Given the description of an element on the screen output the (x, y) to click on. 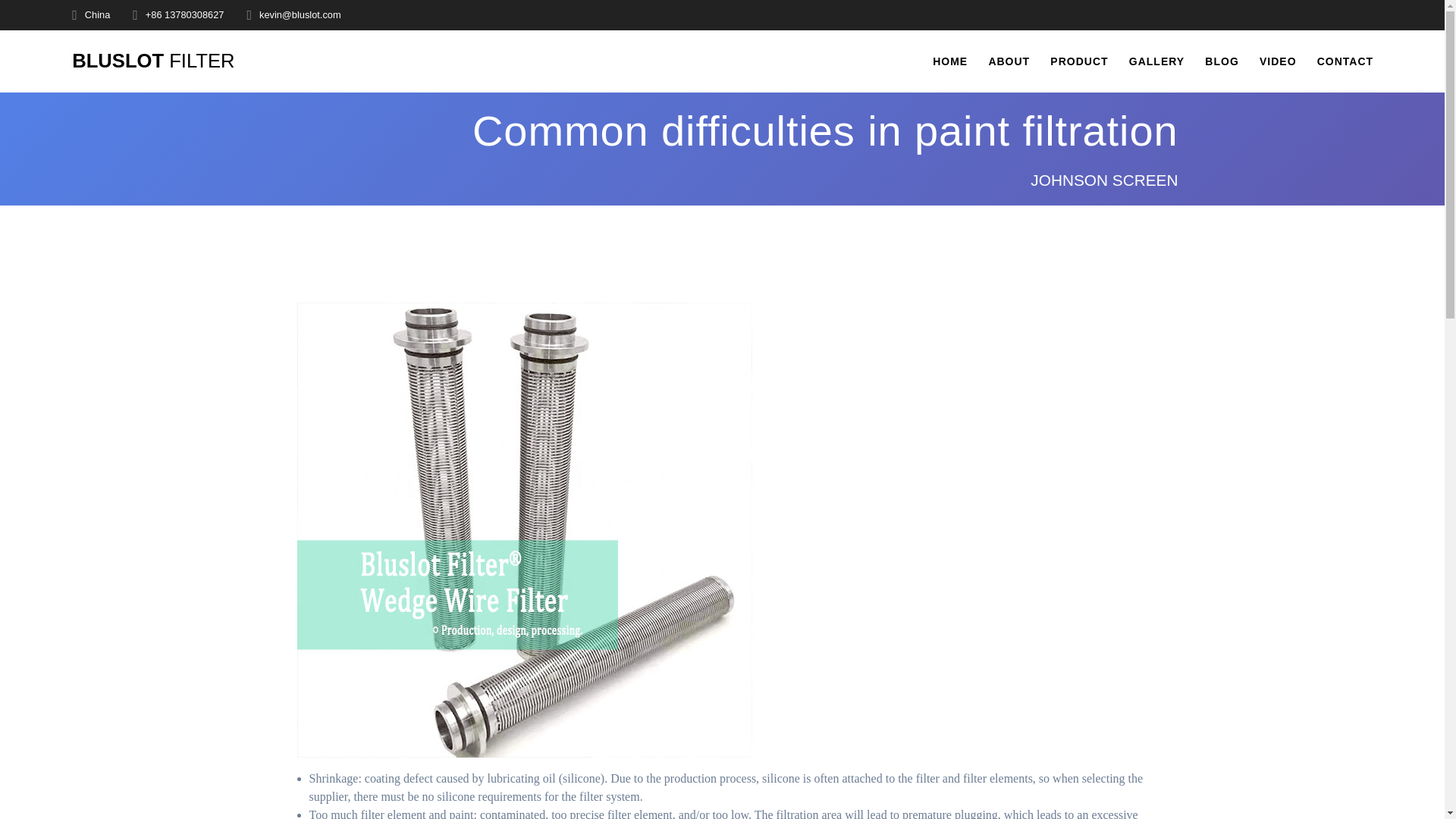
BLUSLOT FILTER (152, 61)
ABOUT (1008, 61)
BLOG (1222, 61)
CONTACT (1345, 61)
VIDEO (1278, 61)
HOME (950, 61)
GALLERY (1157, 61)
PRODUCT (1078, 61)
